Given the description of an element on the screen output the (x, y) to click on. 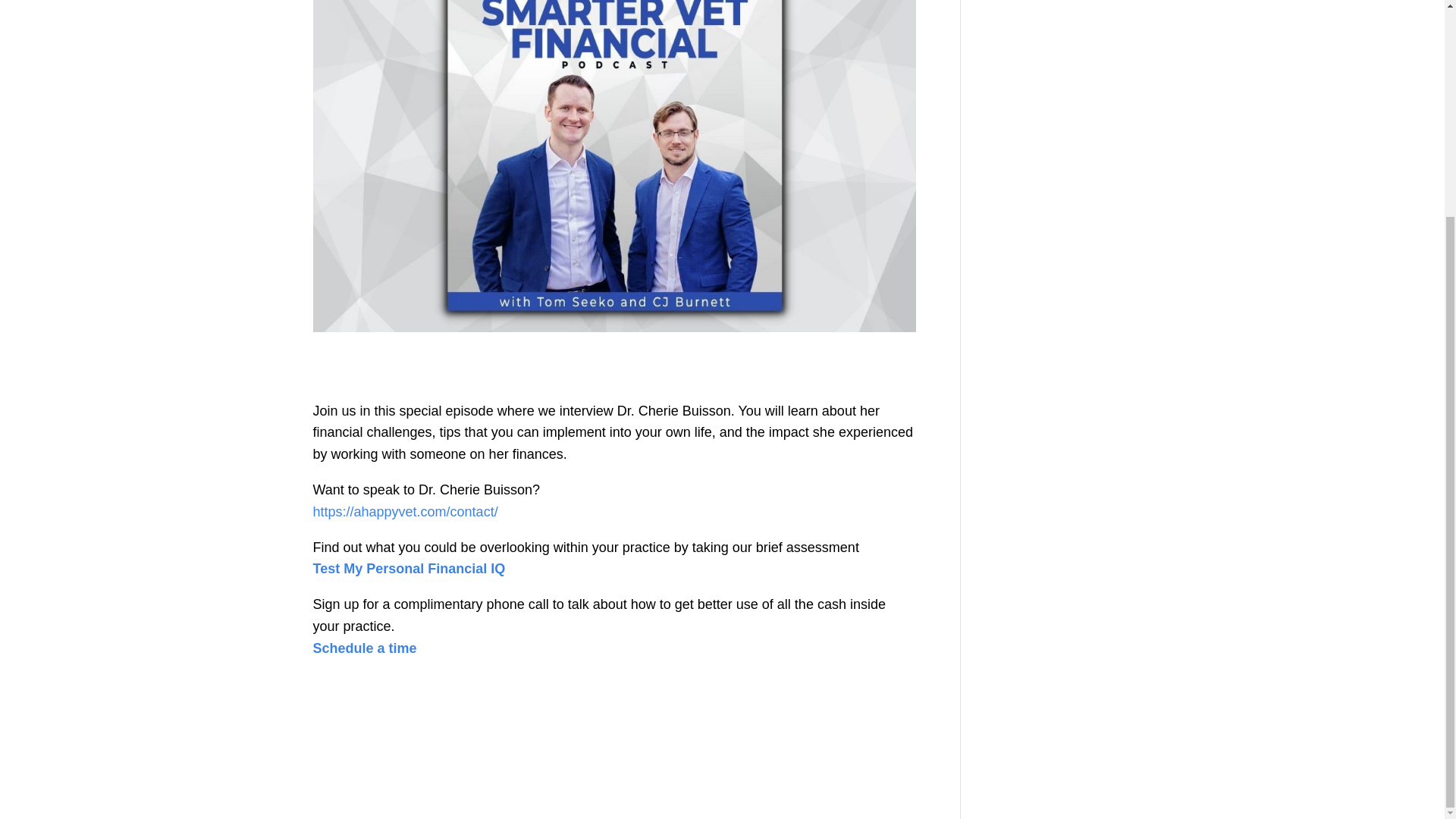
Test My Personal Financial IQ (409, 568)
Schedule a time (364, 648)
